Given the description of an element on the screen output the (x, y) to click on. 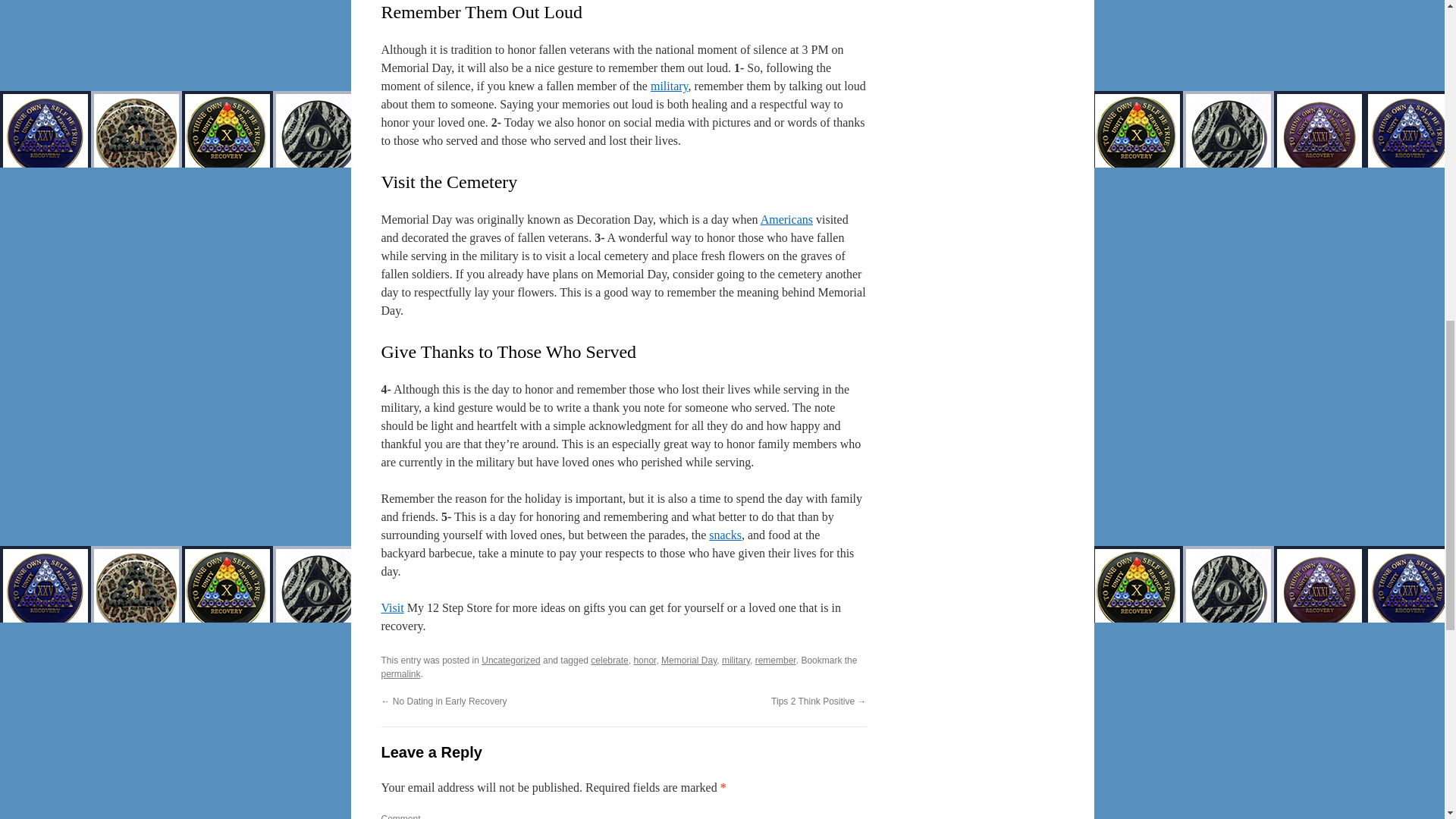
remember (775, 660)
Visit (391, 607)
honor (644, 660)
military (669, 85)
Permalink to 5 Ways to Honor Memorial Day (400, 674)
Americans (786, 219)
Uncategorized (510, 660)
Memorial Day (688, 660)
snacks (725, 534)
celebrate (609, 660)
military (735, 660)
permalink (400, 674)
